Given the description of an element on the screen output the (x, y) to click on. 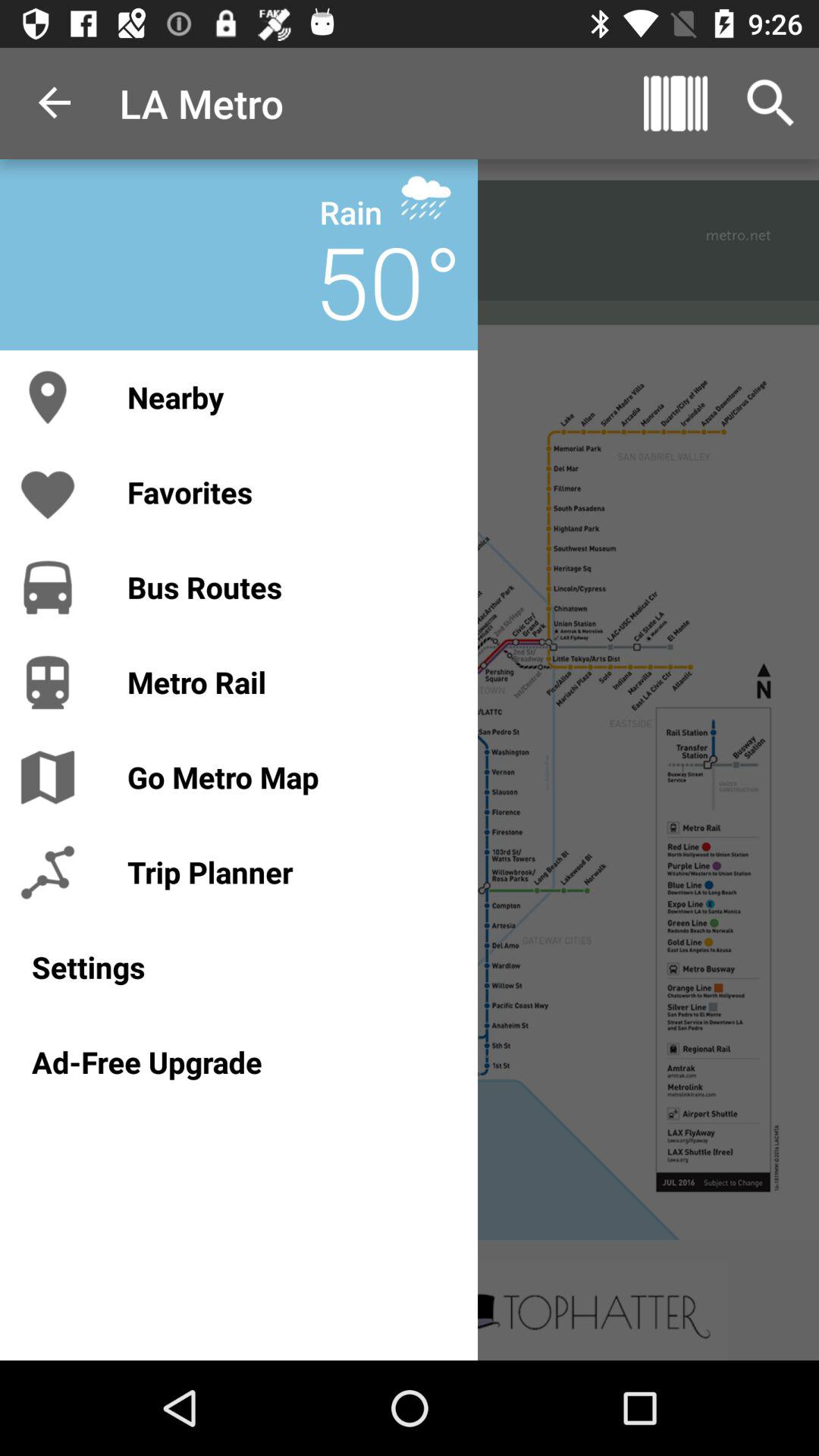
launch the settings (238, 966)
